Given the description of an element on the screen output the (x, y) to click on. 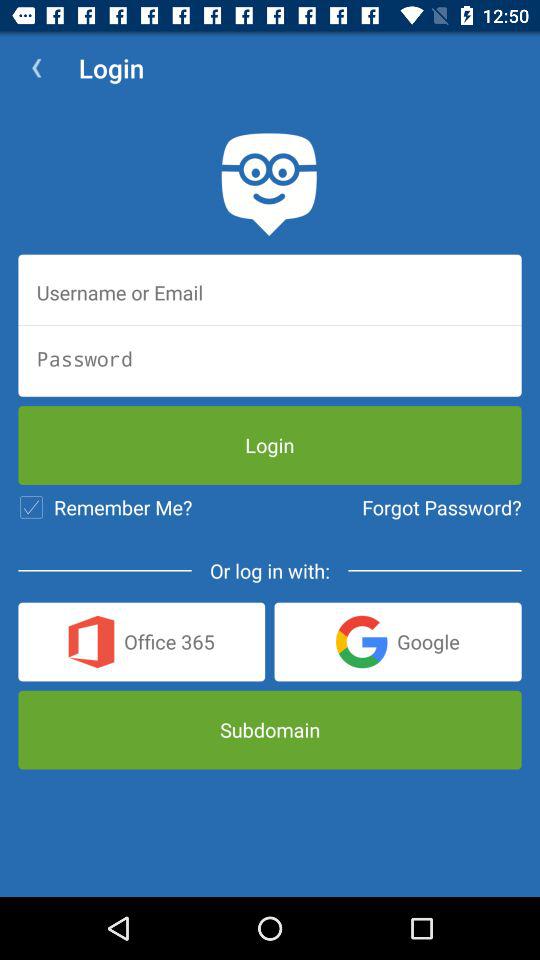
press the item next to the forgot password? icon (105, 507)
